Given the description of an element on the screen output the (x, y) to click on. 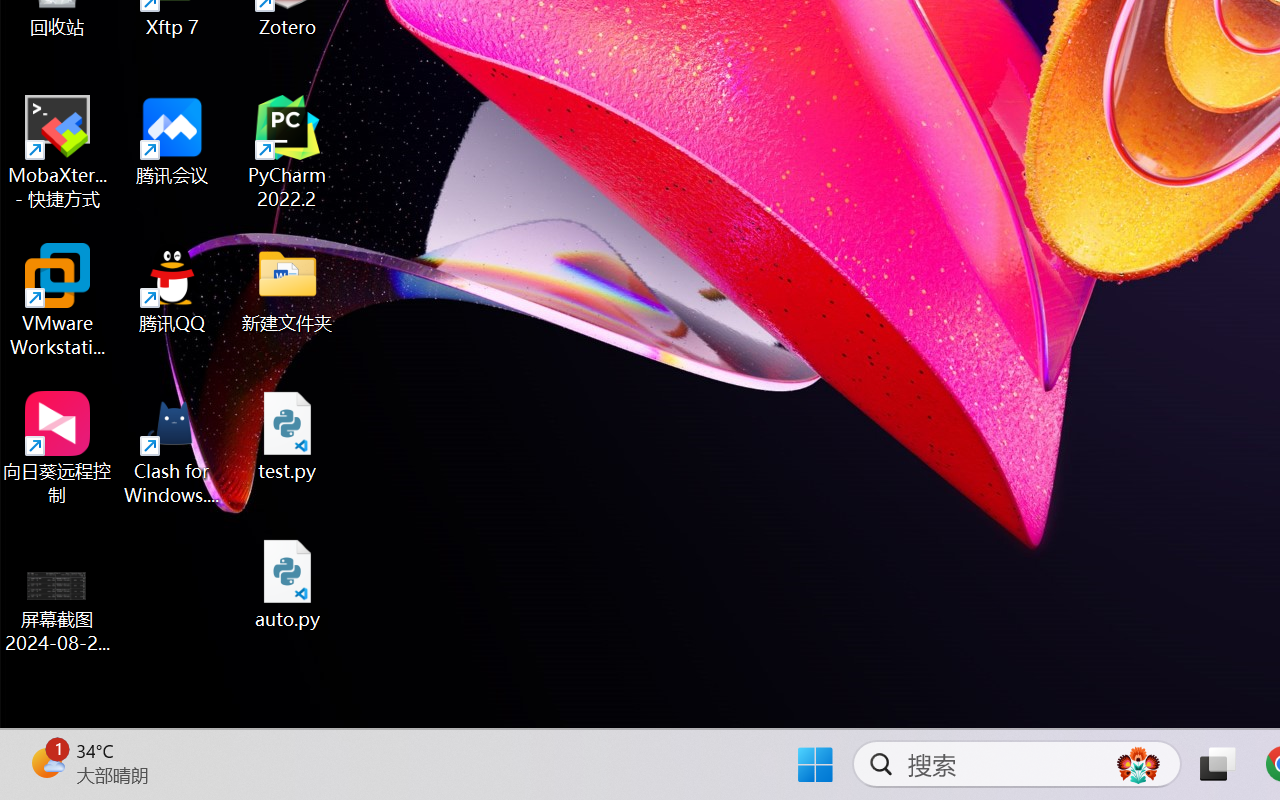
test.py (287, 436)
auto.py (287, 584)
PyCharm 2022.2 (287, 152)
